Given the description of an element on the screen output the (x, y) to click on. 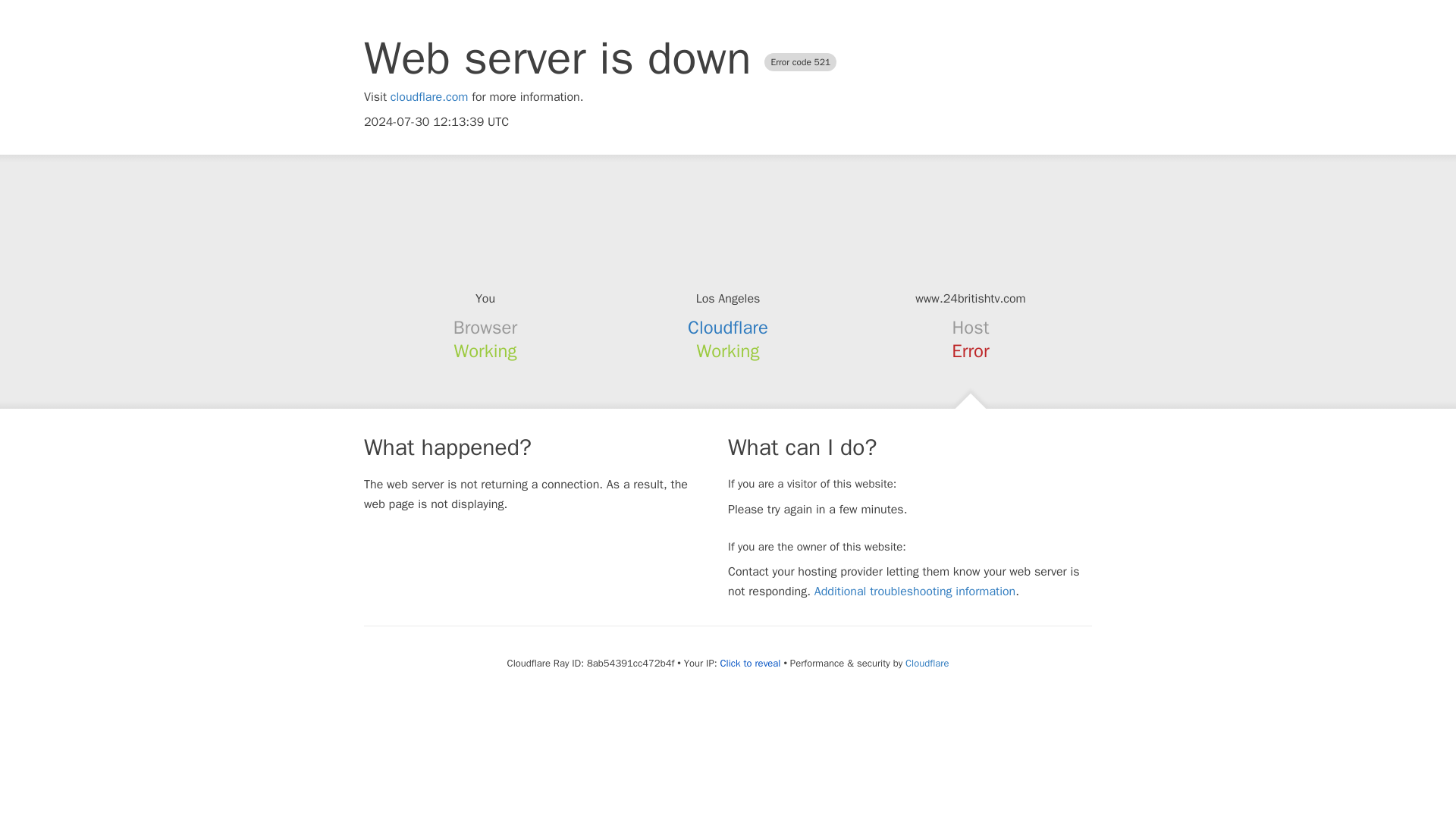
Cloudflare (727, 327)
cloudflare.com (429, 96)
Cloudflare (927, 662)
Additional troubleshooting information (913, 590)
Click to reveal (750, 663)
